Given the description of an element on the screen output the (x, y) to click on. 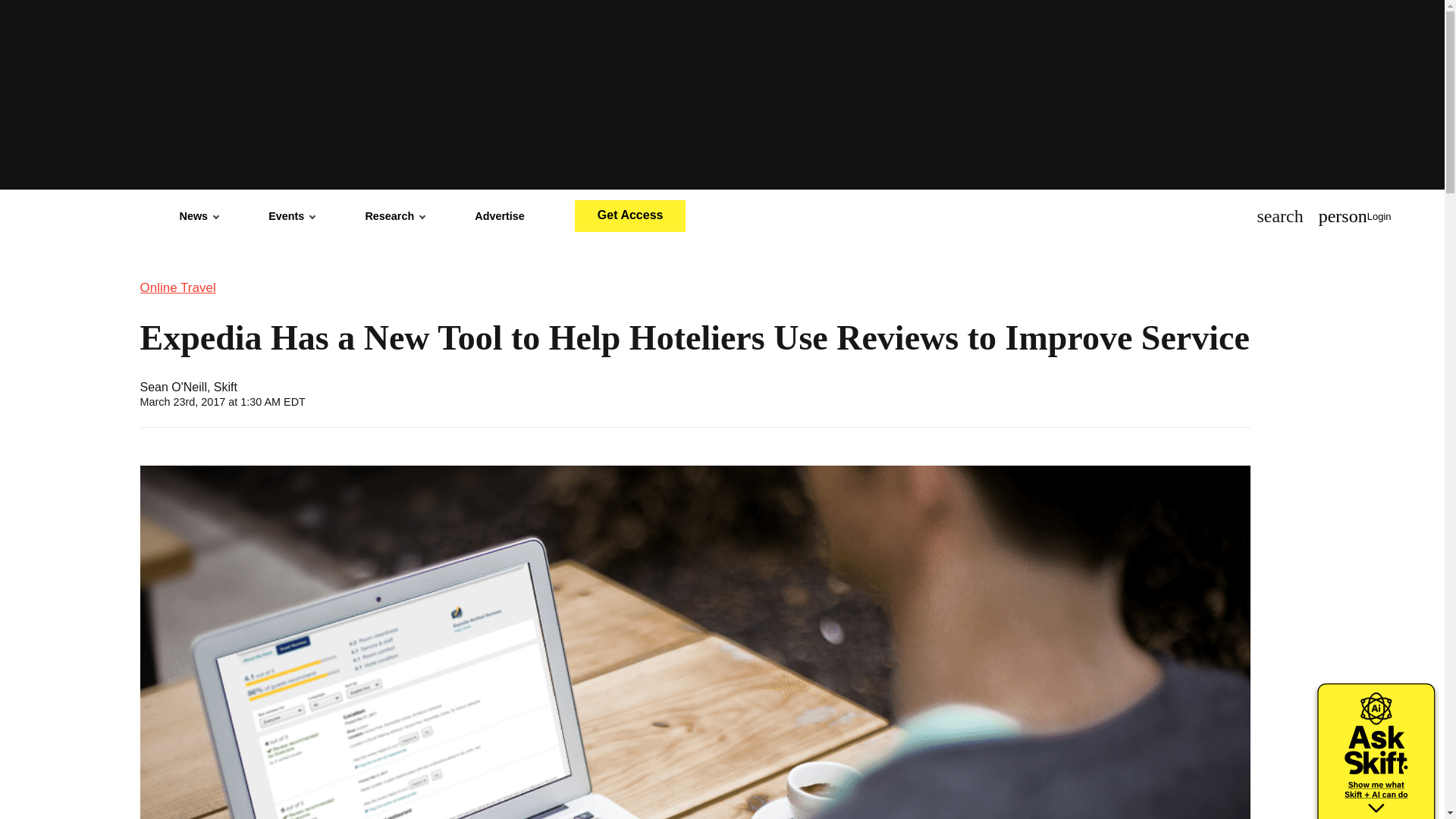
Research (395, 215)
